Given the description of an element on the screen output the (x, y) to click on. 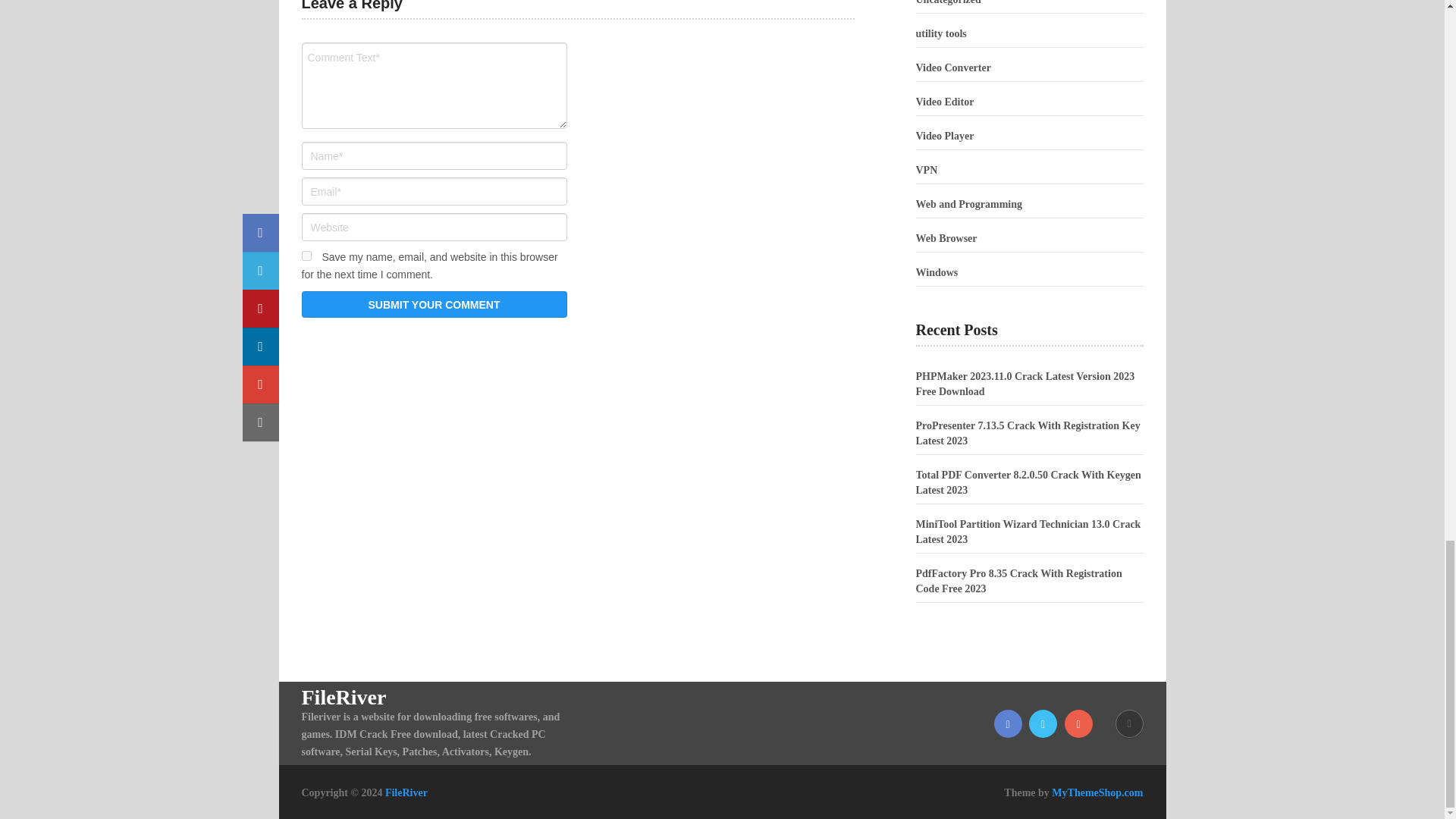
Submit Your Comment (434, 304)
Submit Your Comment (434, 304)
yes (306, 255)
